Given the description of an element on the screen output the (x, y) to click on. 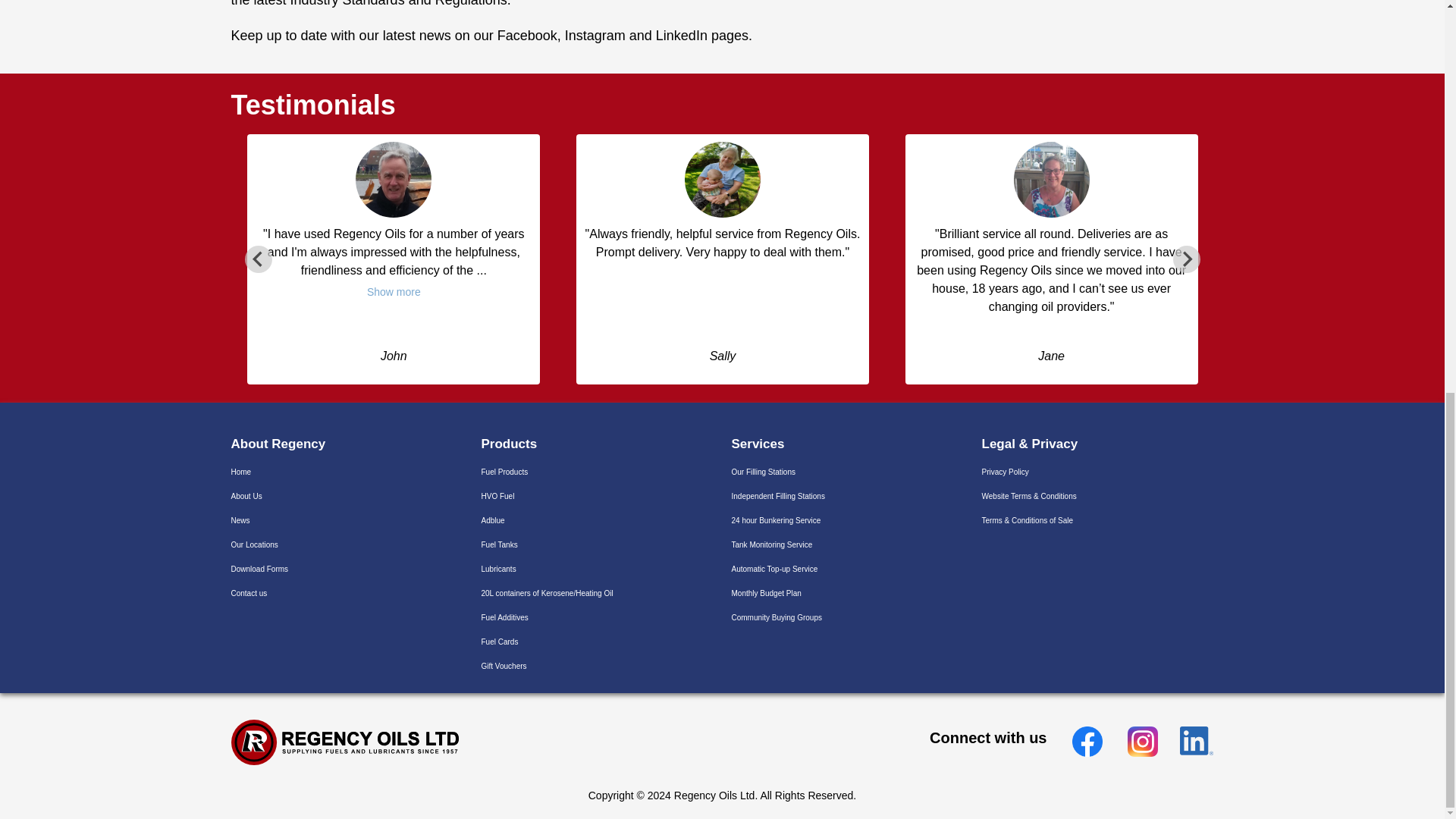
Show more (393, 292)
Our Locations (254, 544)
Contact us (248, 592)
News (239, 520)
Home (240, 471)
About Us (246, 496)
Download Forms (259, 569)
